Given the description of an element on the screen output the (x, y) to click on. 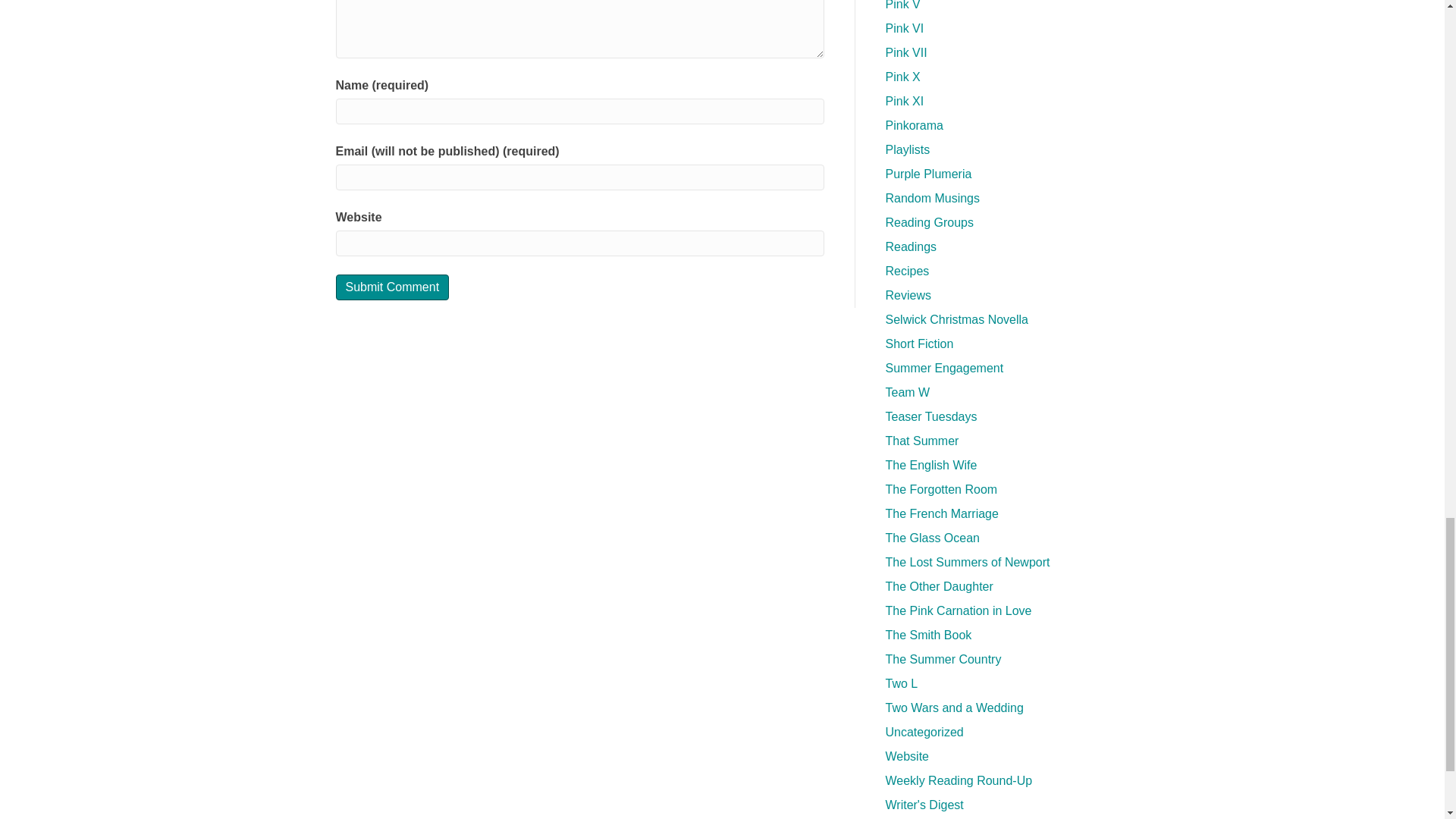
Submit Comment (391, 286)
Submit Comment (391, 286)
